Given the description of an element on the screen output the (x, y) to click on. 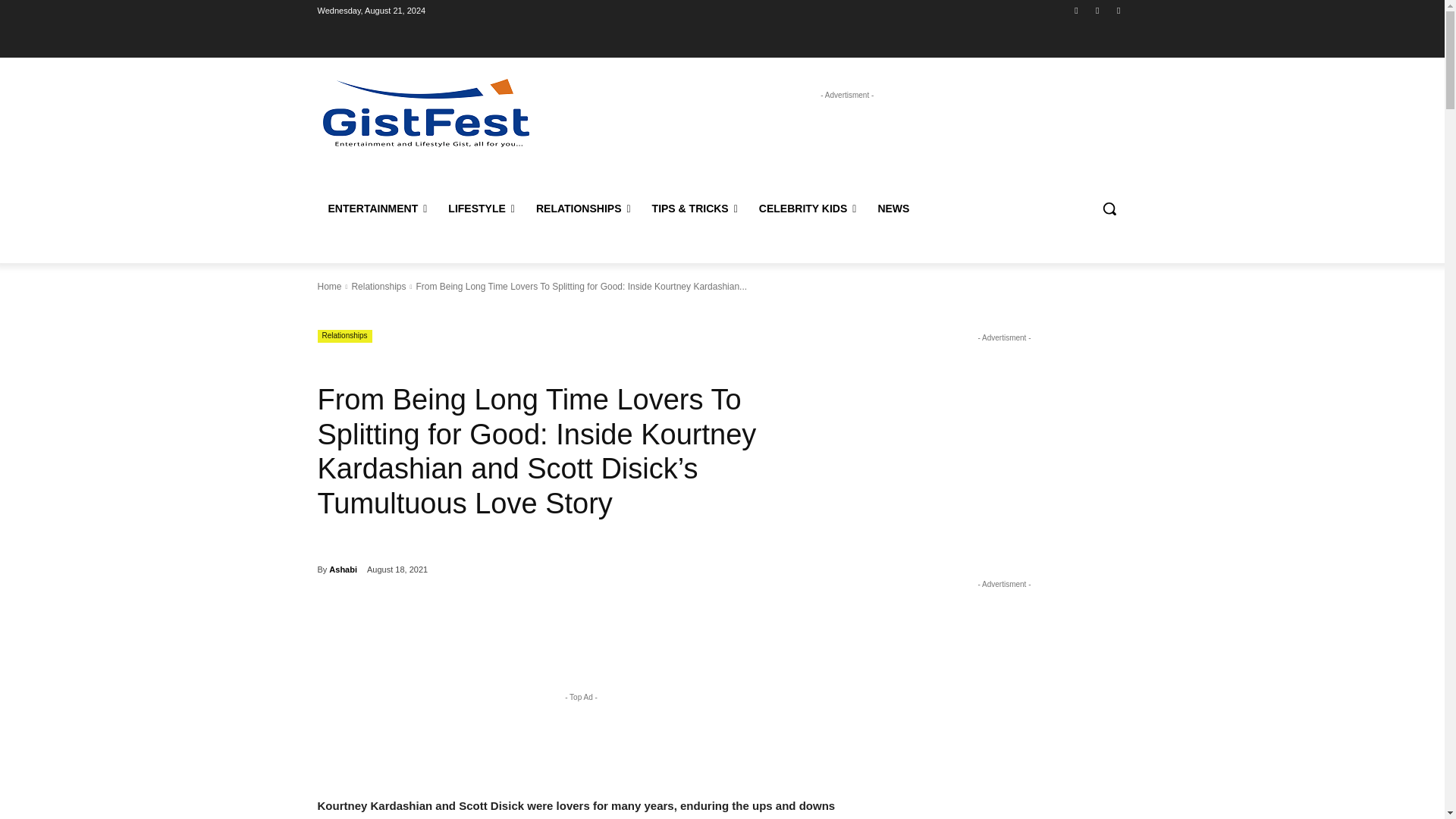
ENTERTAINMENT (377, 208)
Twitter (1117, 9)
Facebook (1075, 9)
LIFESTYLE (481, 208)
Gistfest (425, 112)
RELATIONSHIPS (583, 208)
Gistfest (426, 112)
Instagram (1097, 9)
